Given the description of an element on the screen output the (x, y) to click on. 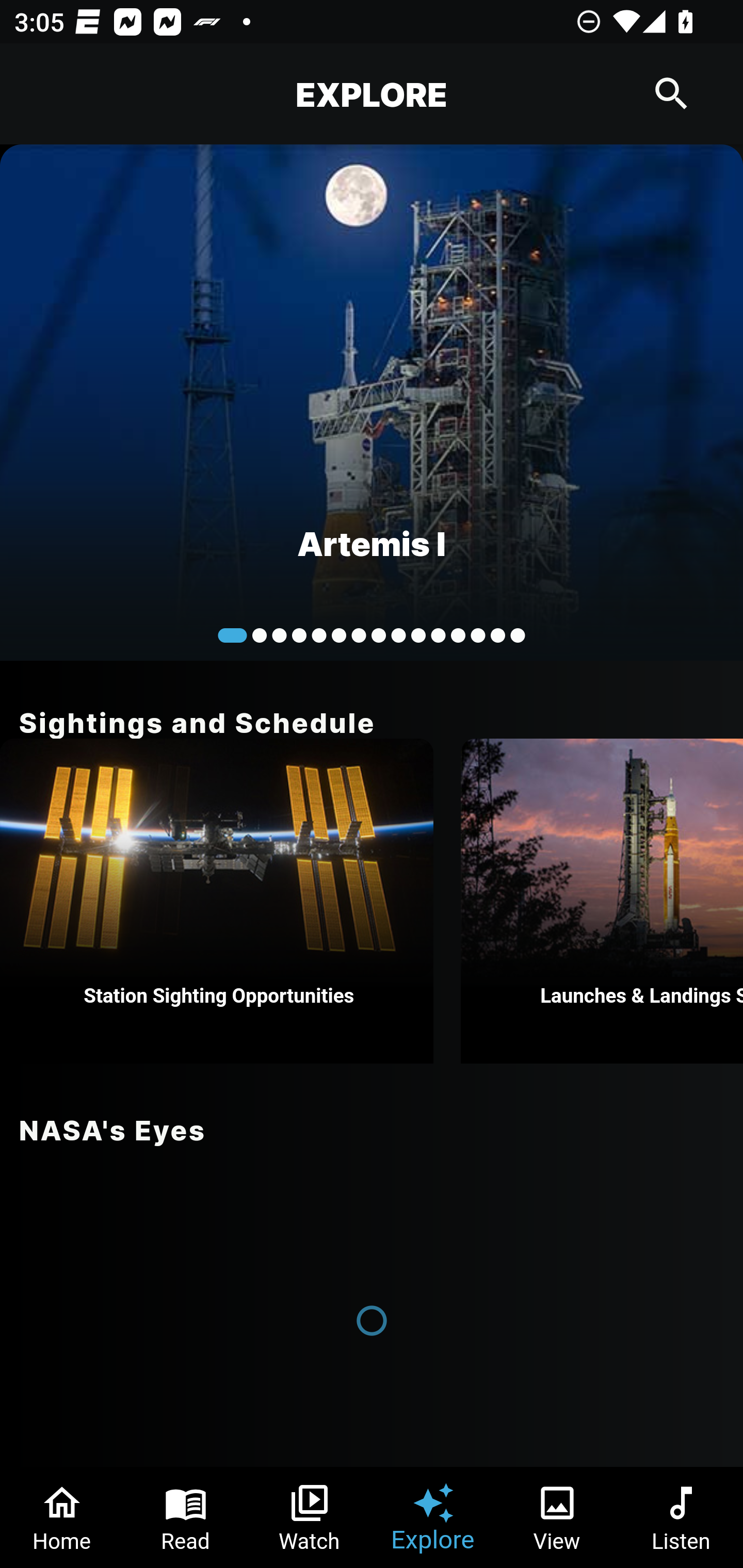
Artemis I
Hello World (371, 402)
Station Sighting Opportunities (216, 900)
Launches & Landings Schedule (601, 900)
Home
Tab 1 of 6 (62, 1517)
Read
Tab 2 of 6 (185, 1517)
Watch
Tab 3 of 6 (309, 1517)
Explore
Tab 4 of 6 (433, 1517)
View
Tab 5 of 6 (556, 1517)
Listen
Tab 6 of 6 (680, 1517)
